Given the description of an element on the screen output the (x, y) to click on. 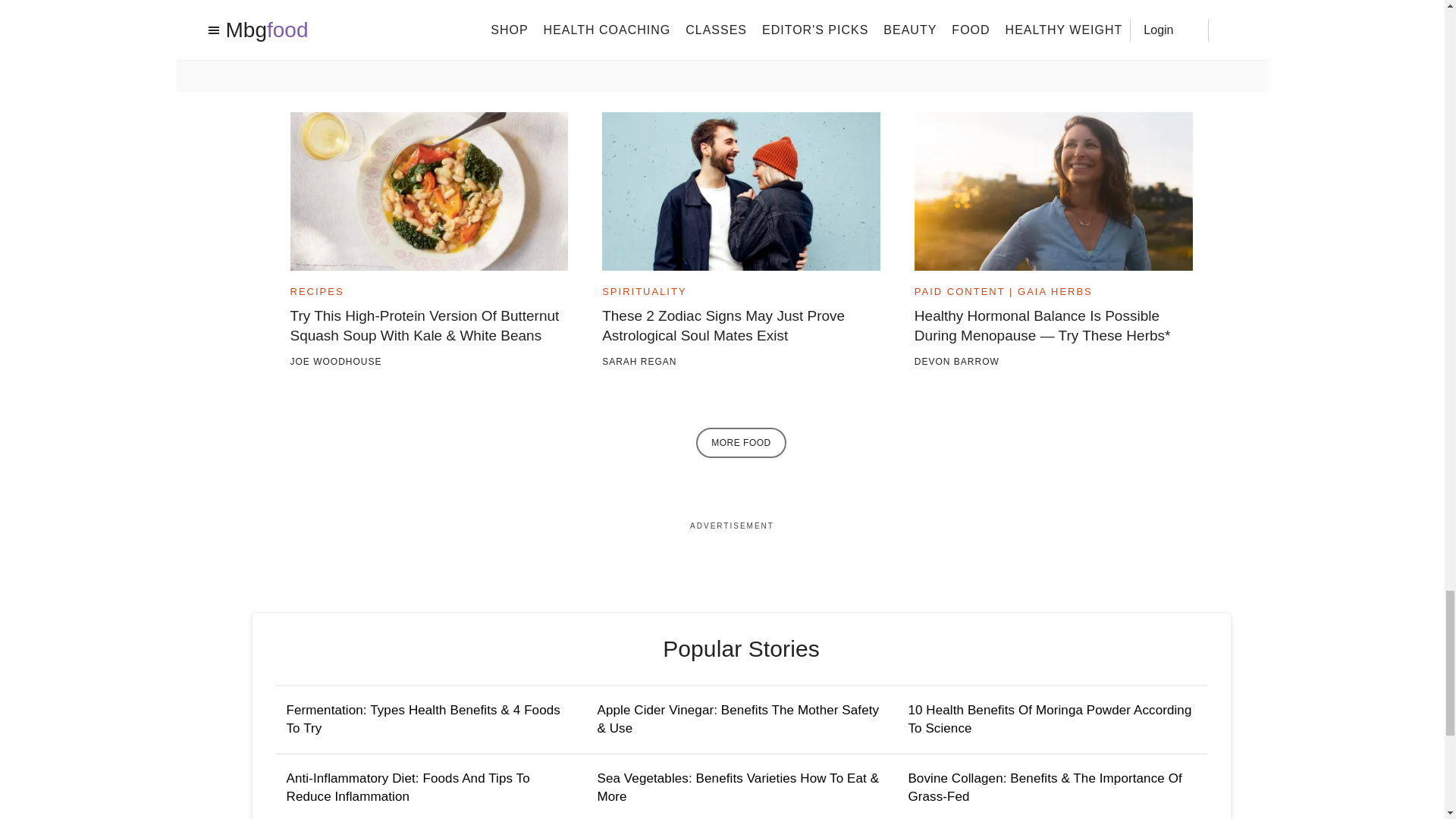
SPIRITUALITY (643, 291)
RECIPES (316, 291)
